Given the description of an element on the screen output the (x, y) to click on. 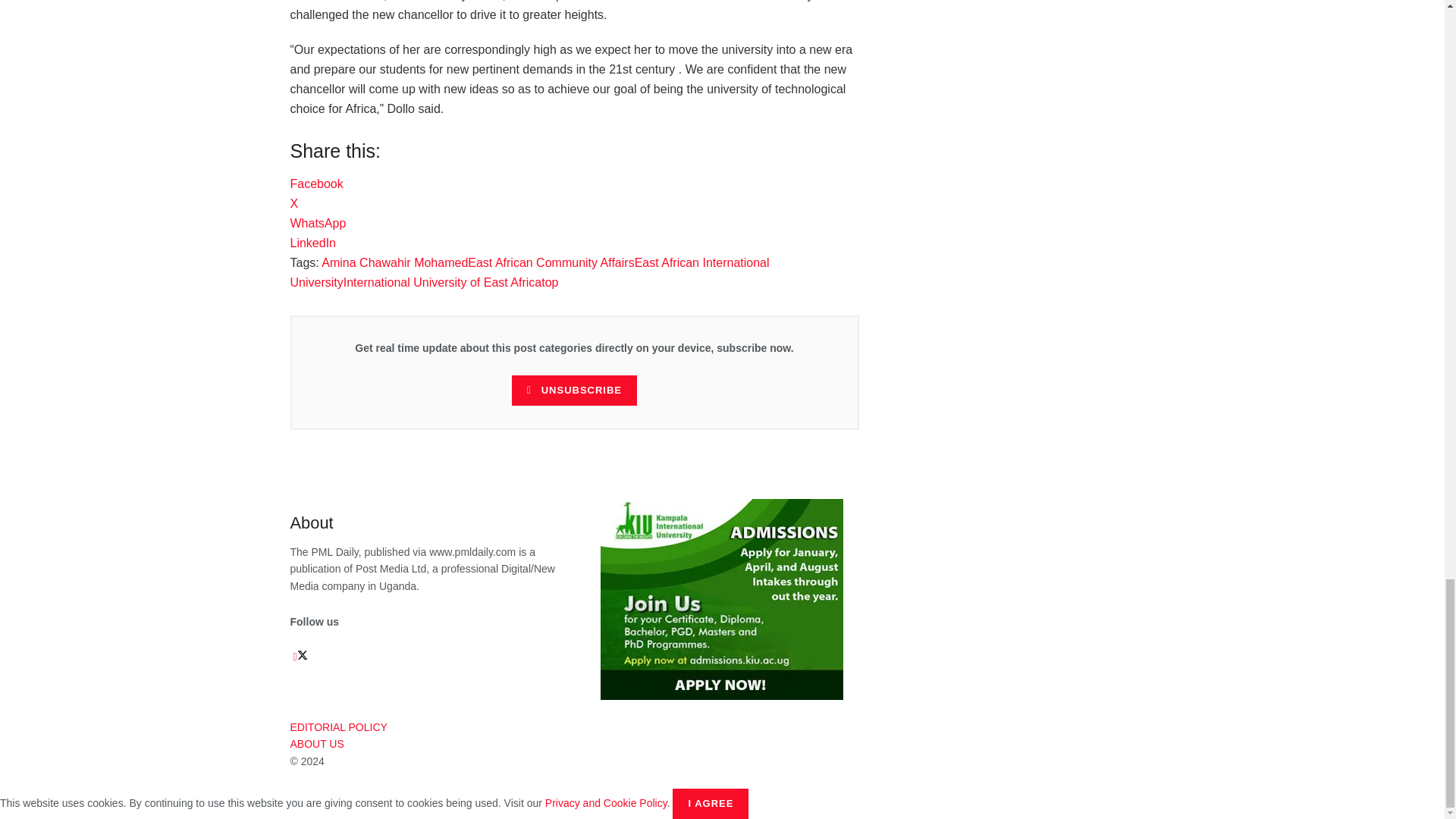
Click to share on WhatsApp (317, 223)
Click to share on LinkedIn (312, 242)
Click to share on Facebook (315, 183)
